Given the description of an element on the screen output the (x, y) to click on. 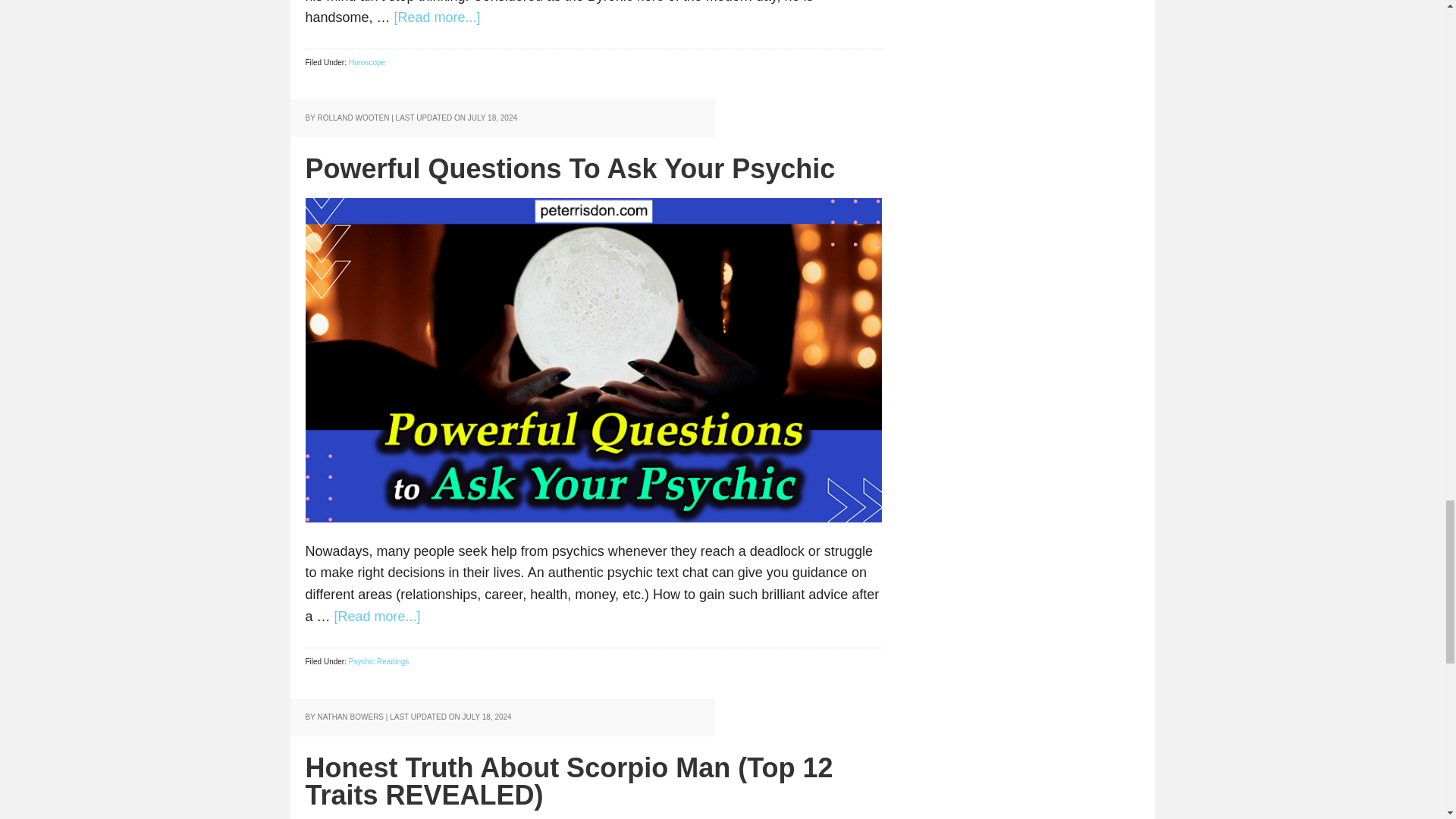
Horoscope (367, 62)
